Given the description of an element on the screen output the (x, y) to click on. 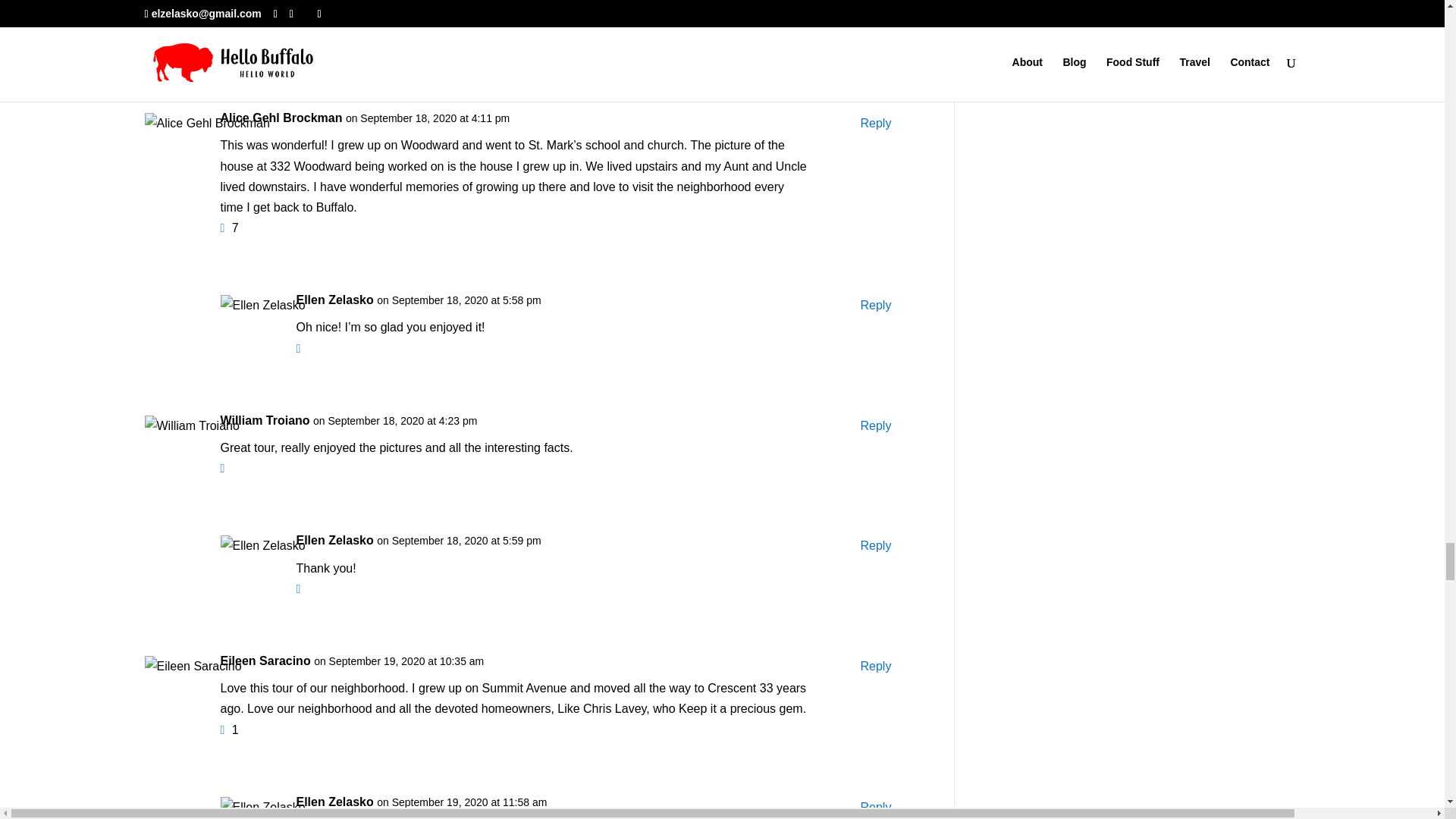
Reply (875, 425)
Reply (875, 304)
Reply (875, 123)
Reply (875, 545)
William Troiano (263, 420)
